Given the description of an element on the screen output the (x, y) to click on. 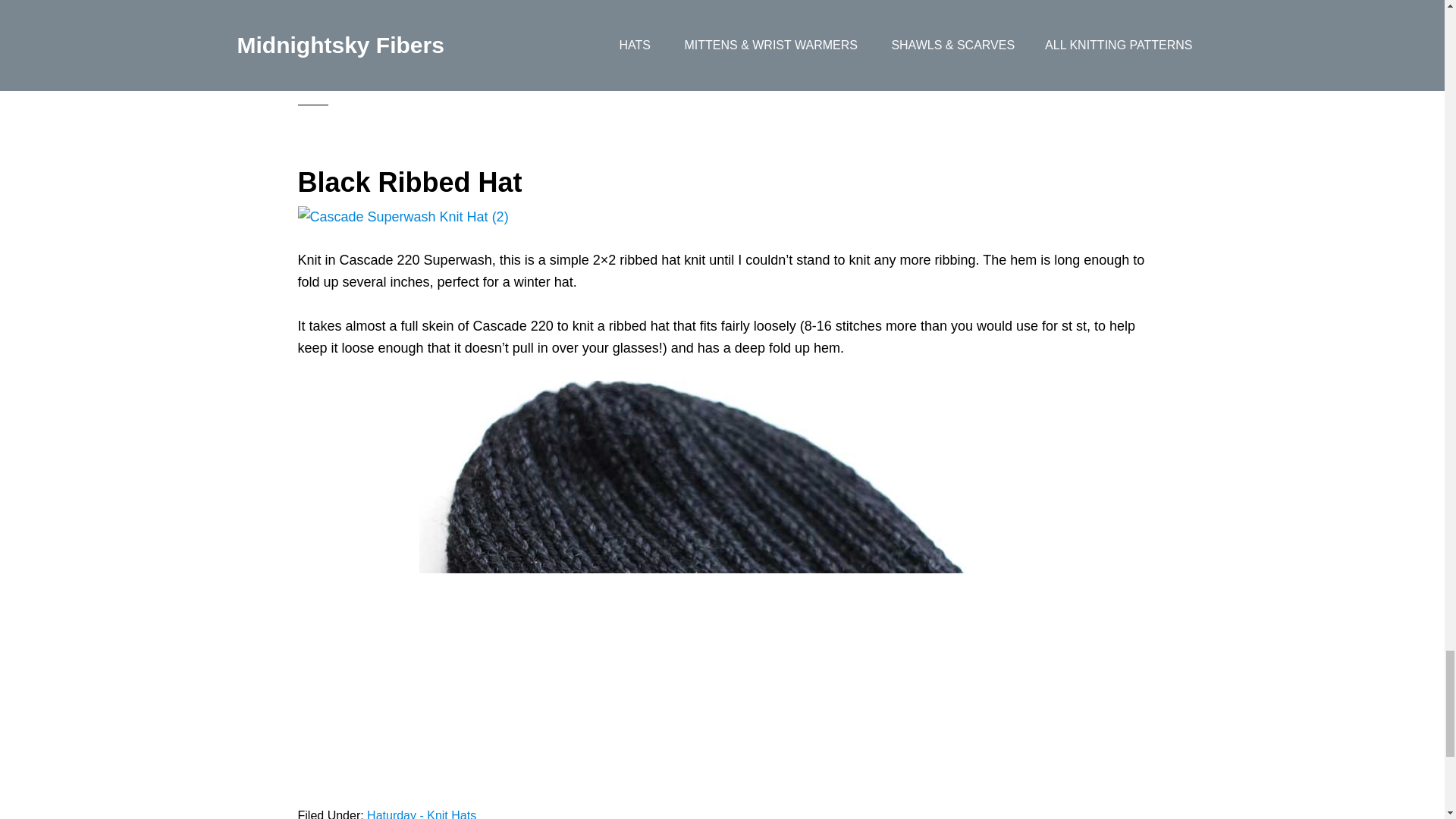
Black Ribbed Hat (409, 182)
Haturday - Knit Hats (421, 33)
Haturday - Knit Hats (421, 814)
